Given the description of an element on the screen output the (x, y) to click on. 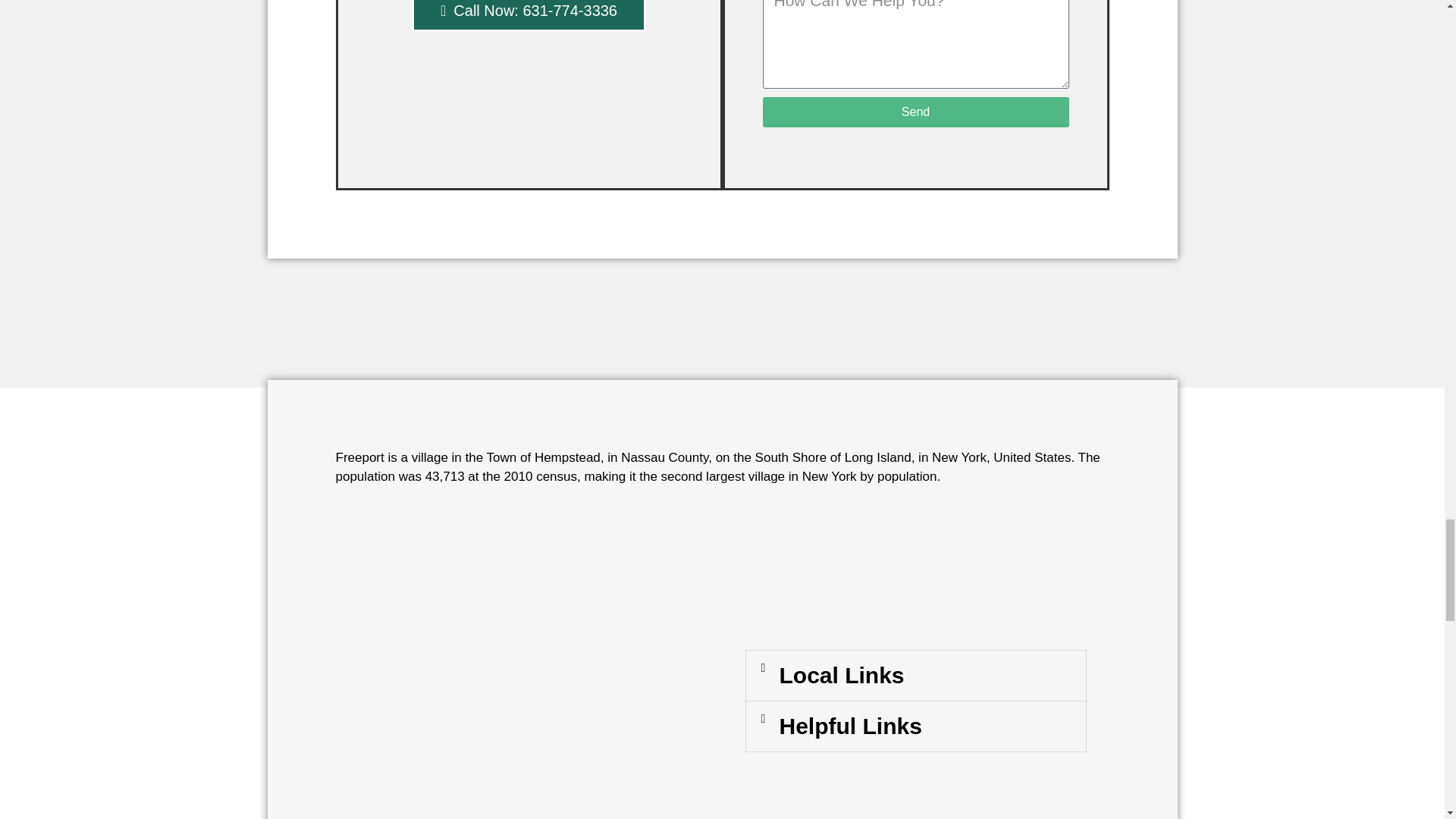
Local Links (841, 674)
Call Now: 631-774-3336 (529, 15)
Send (915, 112)
Helpful Links (849, 725)
